Given the description of an element on the screen output the (x, y) to click on. 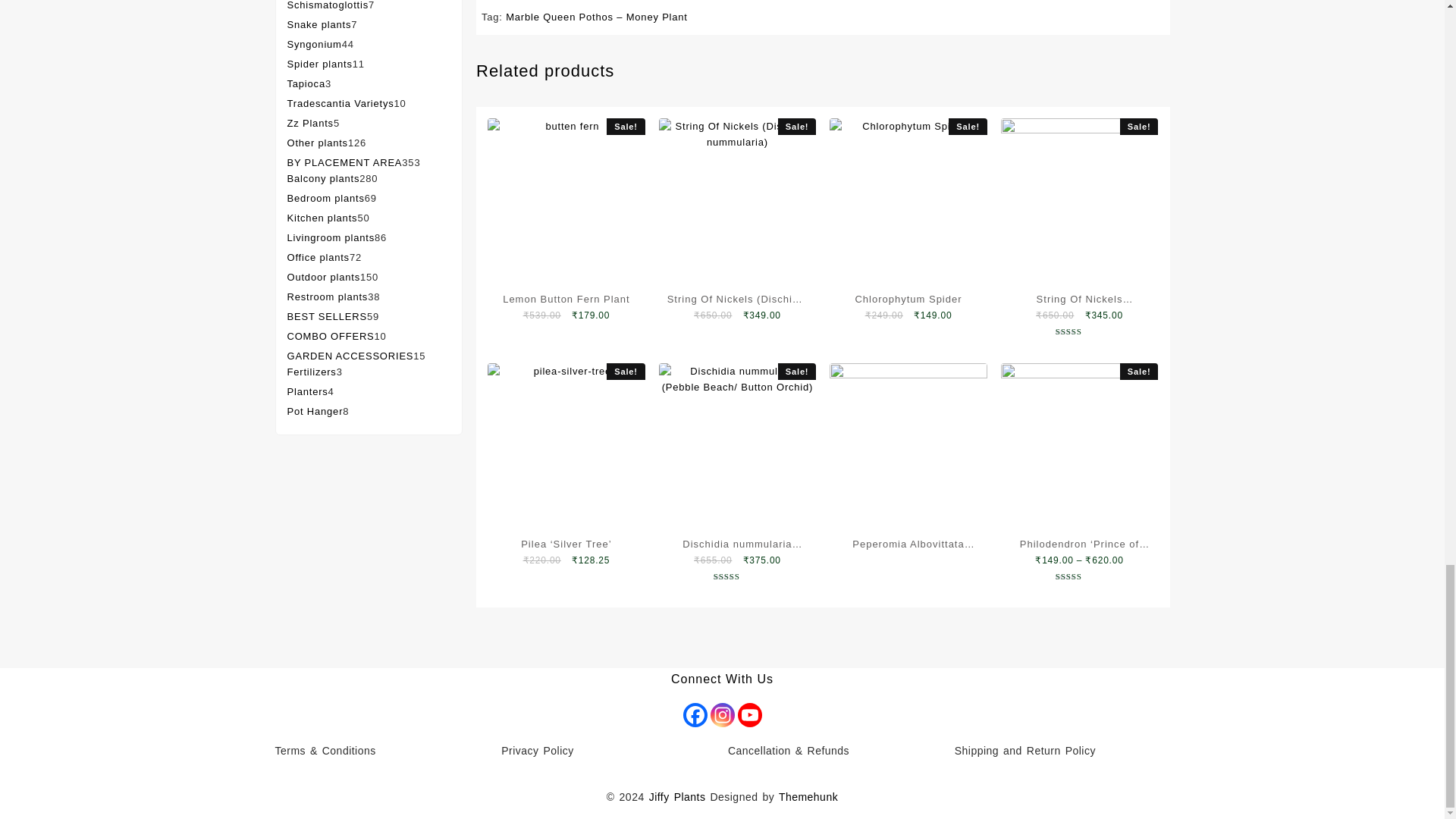
Facebook (694, 714)
Instagram (721, 714)
Youtube Channel (748, 714)
